Given the description of an element on the screen output the (x, y) to click on. 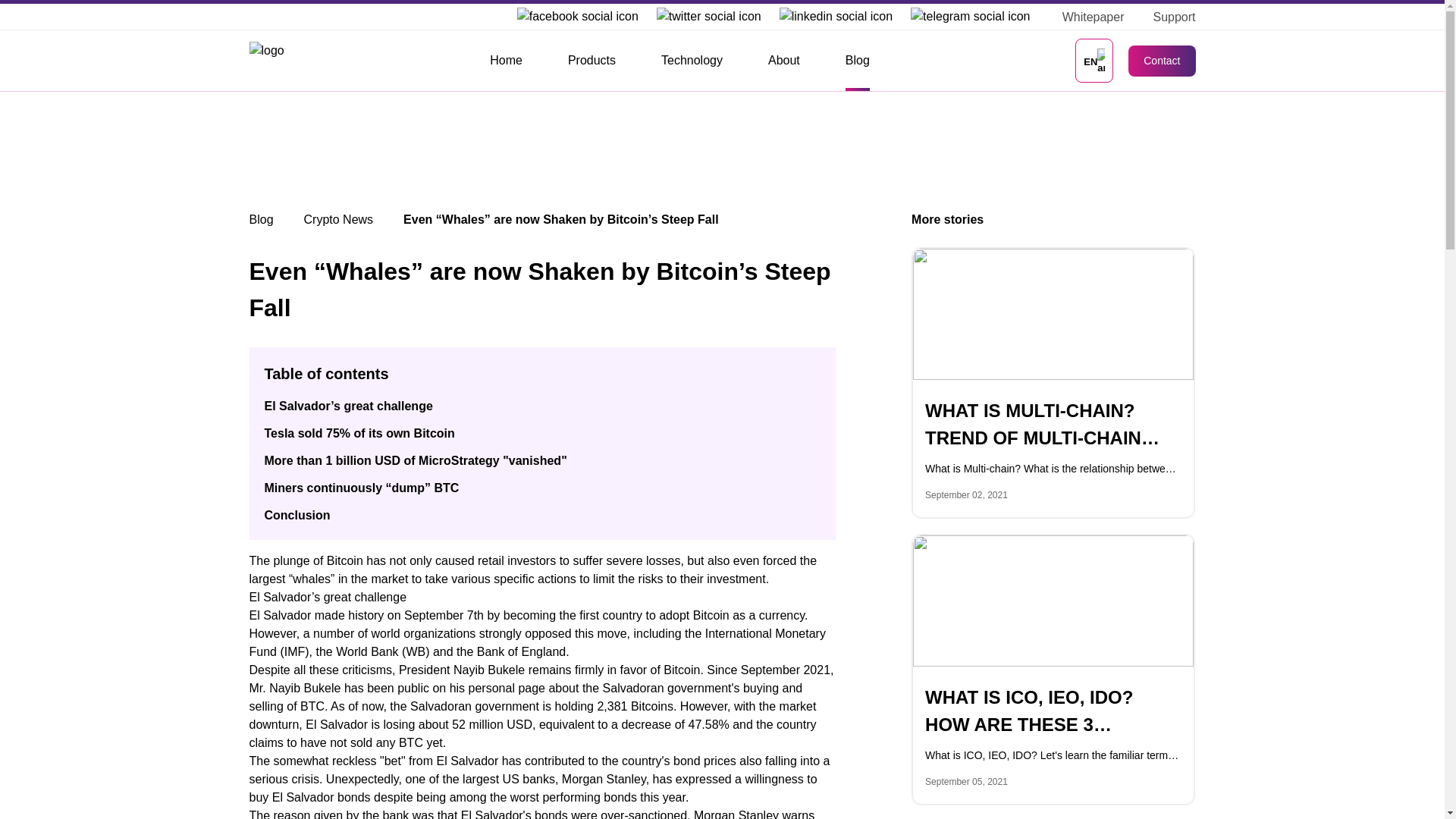
Products (591, 60)
Conclusion (296, 514)
Technology (691, 60)
Contact (1161, 60)
Blog (260, 219)
More than 1 billion USD of MicroStrategy "vanished" (414, 460)
Home (505, 60)
Blog (857, 60)
Support (1168, 16)
Crypto News (339, 219)
